Given the description of an element on the screen output the (x, y) to click on. 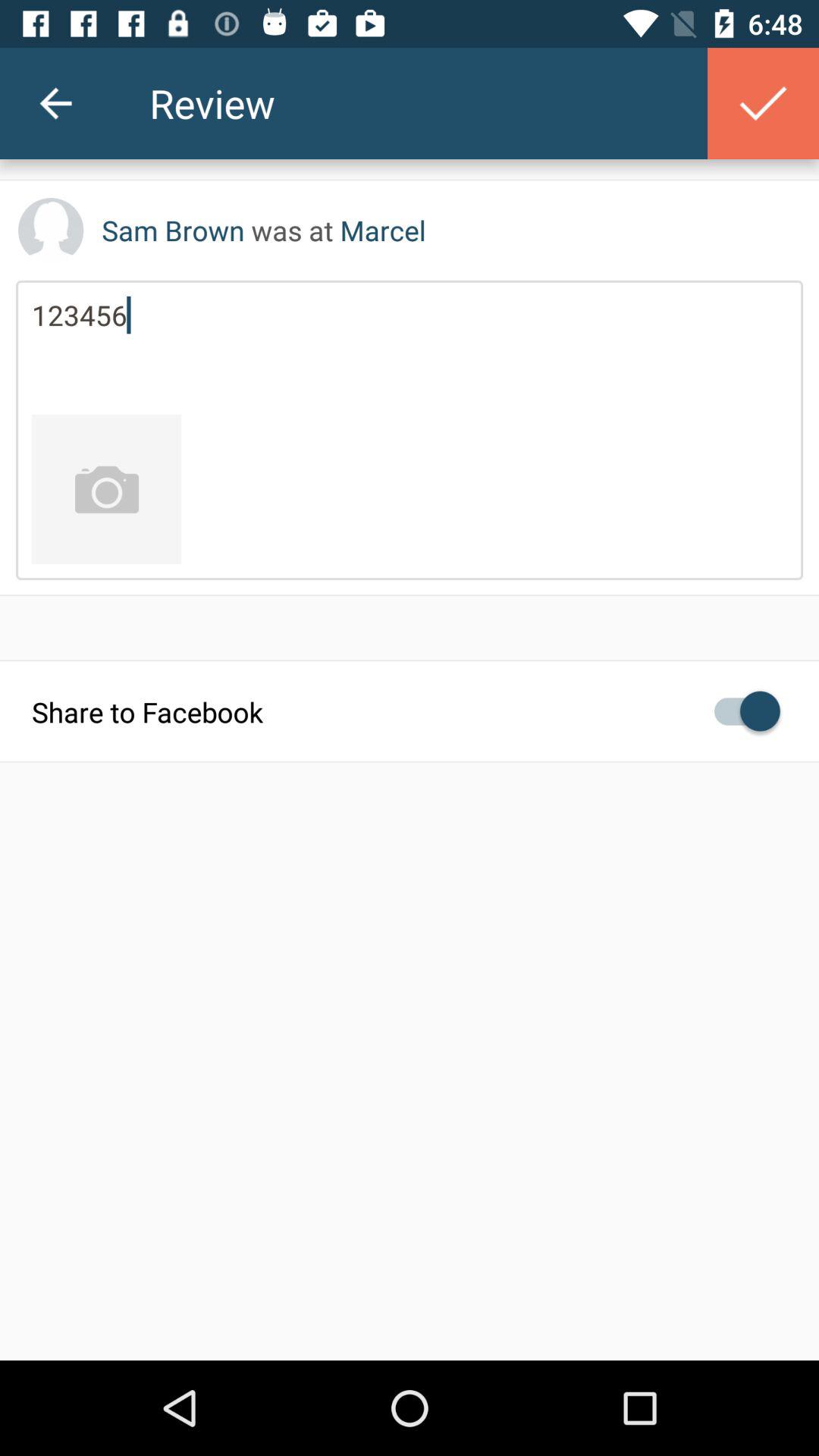
tap the icon to the left of the review (55, 103)
